Given the description of an element on the screen output the (x, y) to click on. 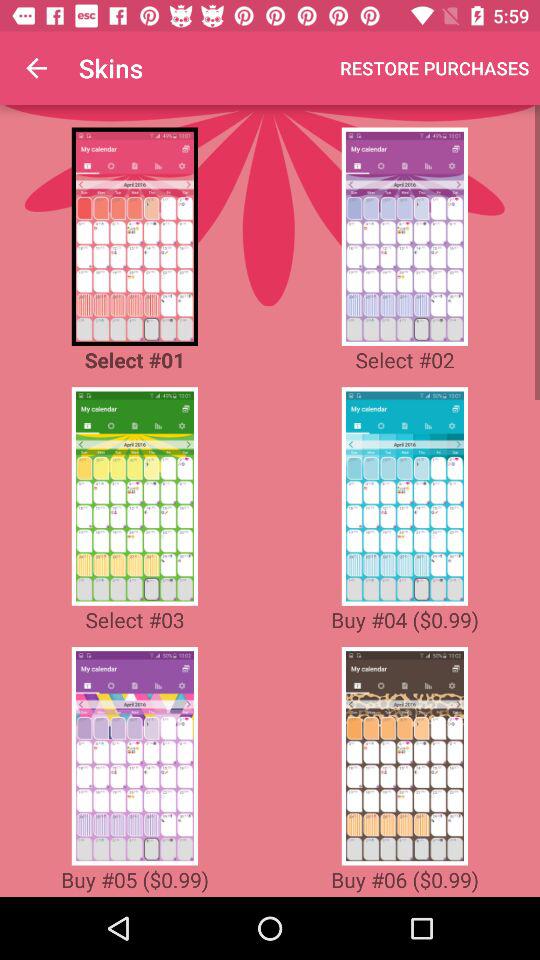
select skin type (404, 756)
